Given the description of an element on the screen output the (x, y) to click on. 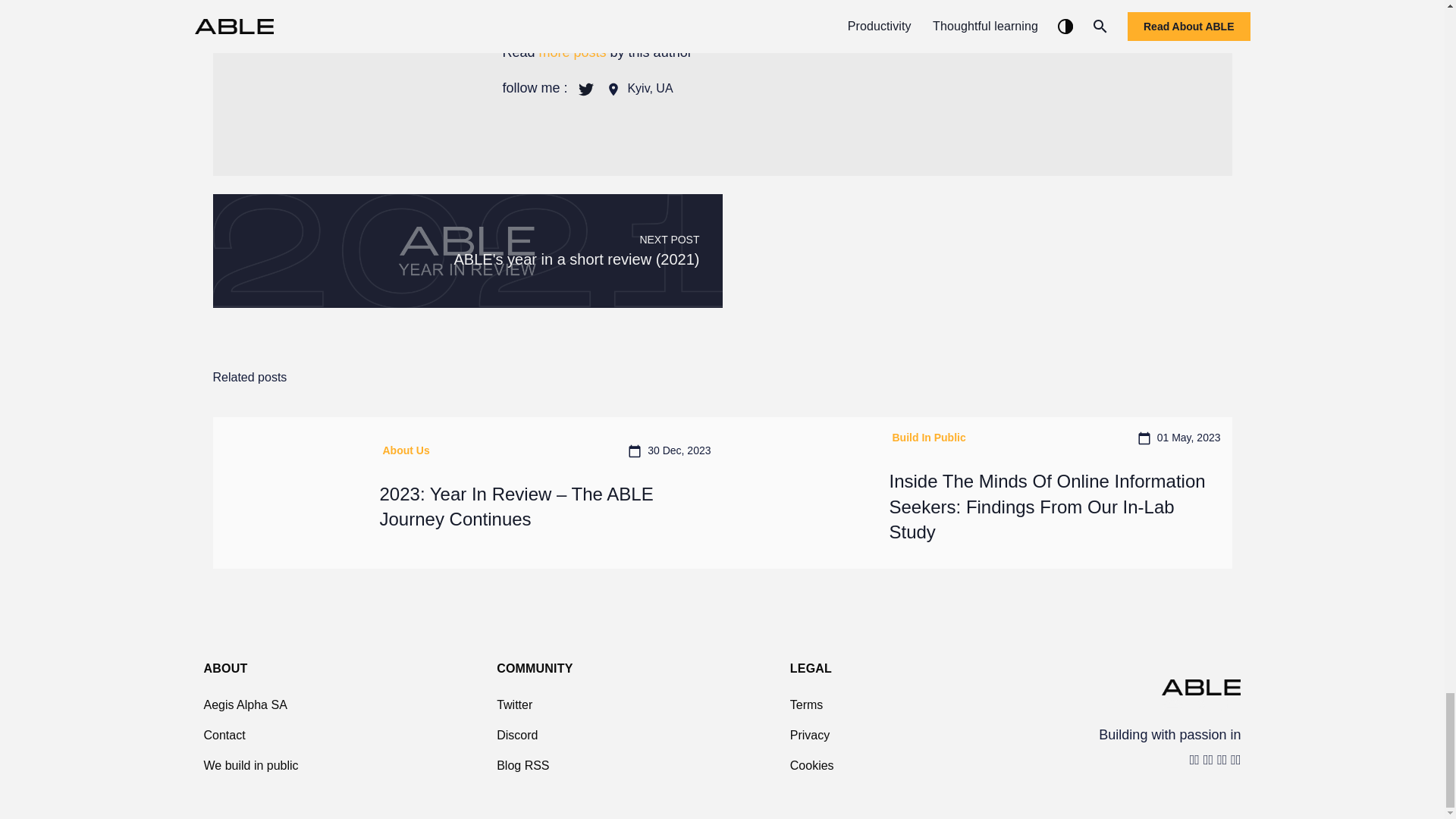
more posts (572, 52)
Build In Public (926, 437)
About Us (403, 450)
